Given the description of an element on the screen output the (x, y) to click on. 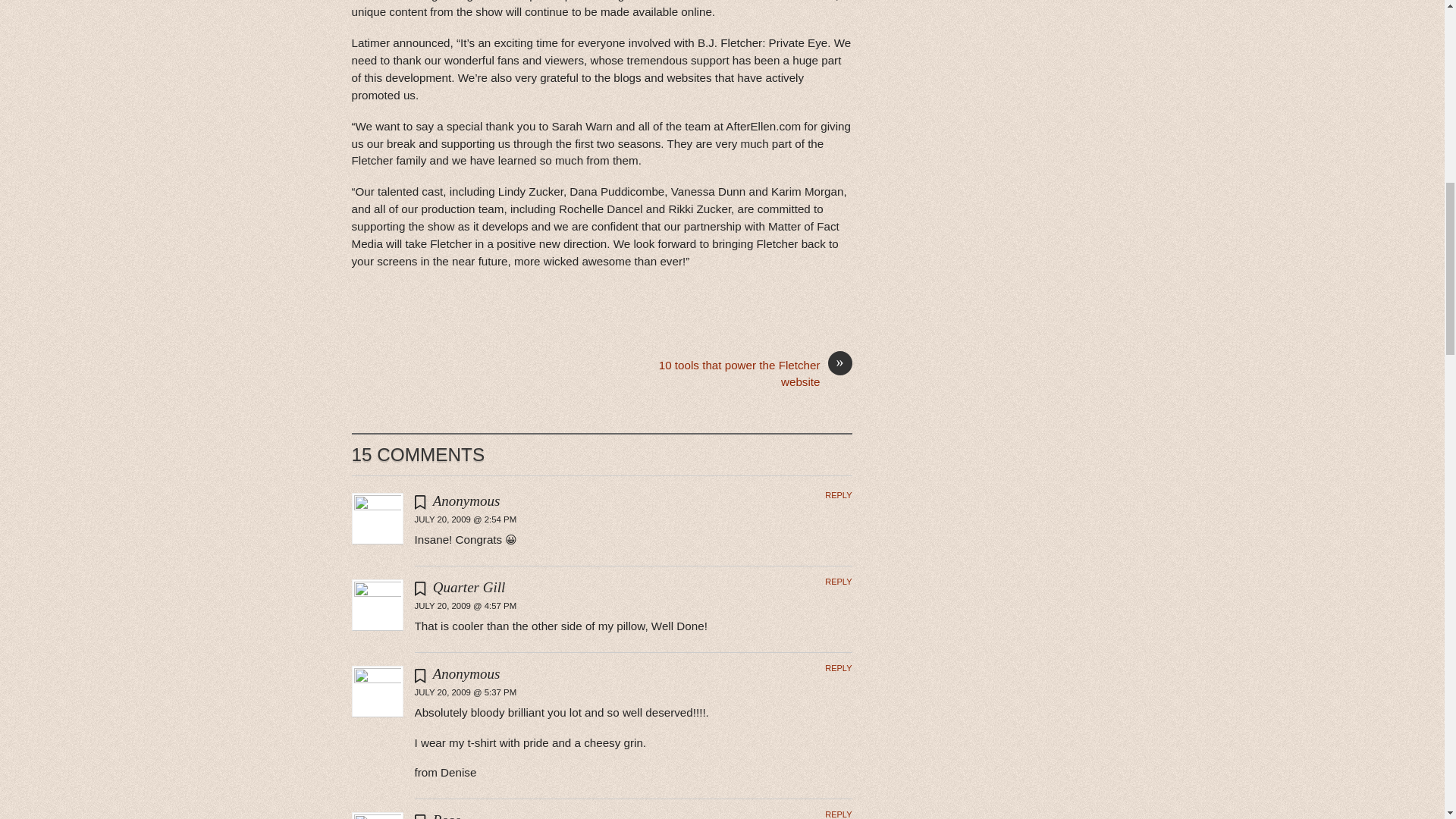
REPLY (838, 581)
REPLY (838, 494)
REPLY (838, 814)
REPLY (838, 667)
